Given the description of an element on the screen output the (x, y) to click on. 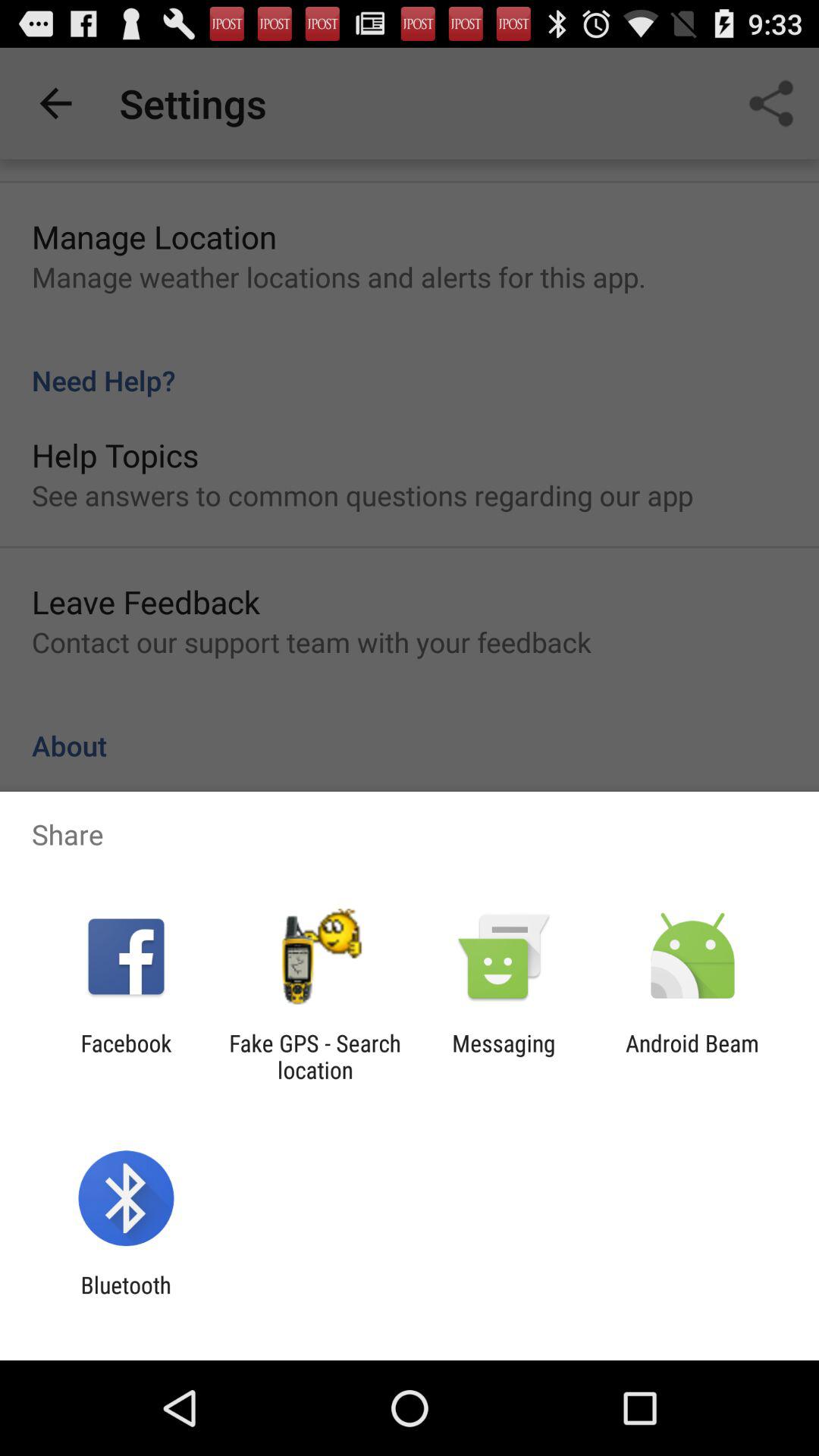
turn off the bluetooth (125, 1298)
